Given the description of an element on the screen output the (x, y) to click on. 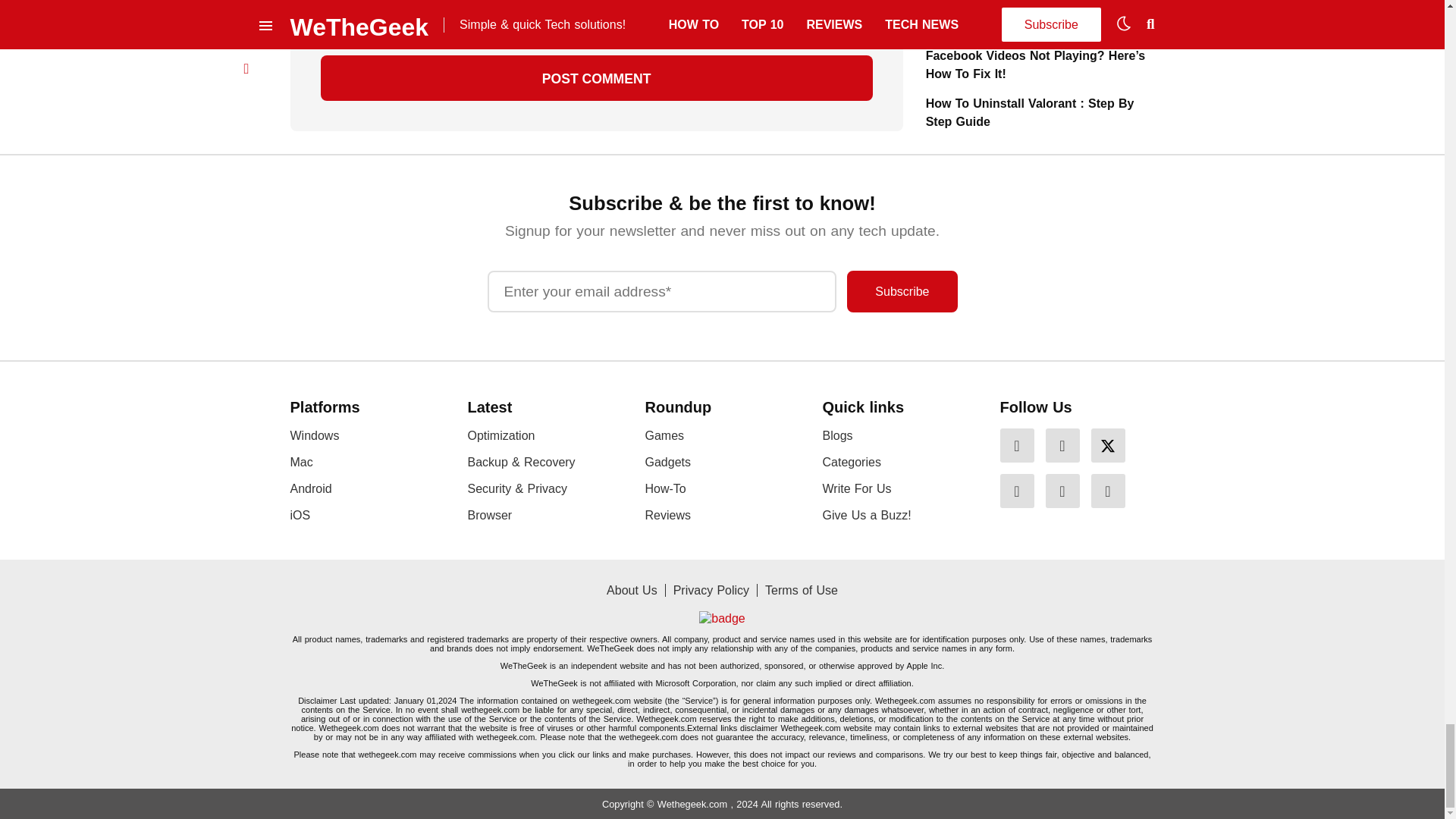
yes (325, 22)
Post Comment (596, 77)
Subscribe (901, 291)
